Given the description of an element on the screen output the (x, y) to click on. 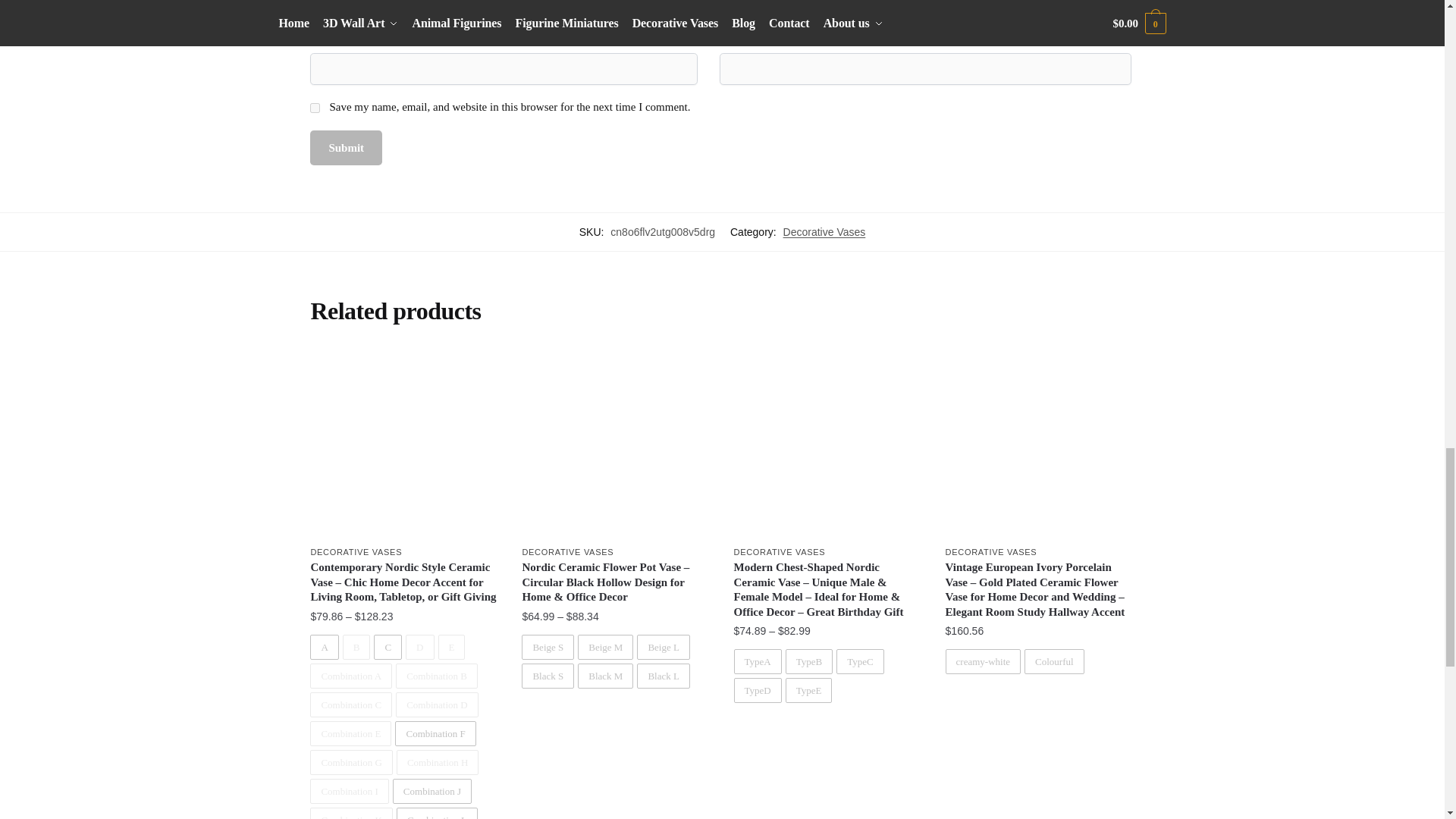
Submit (345, 148)
yes (315, 108)
